Given the description of an element on the screen output the (x, y) to click on. 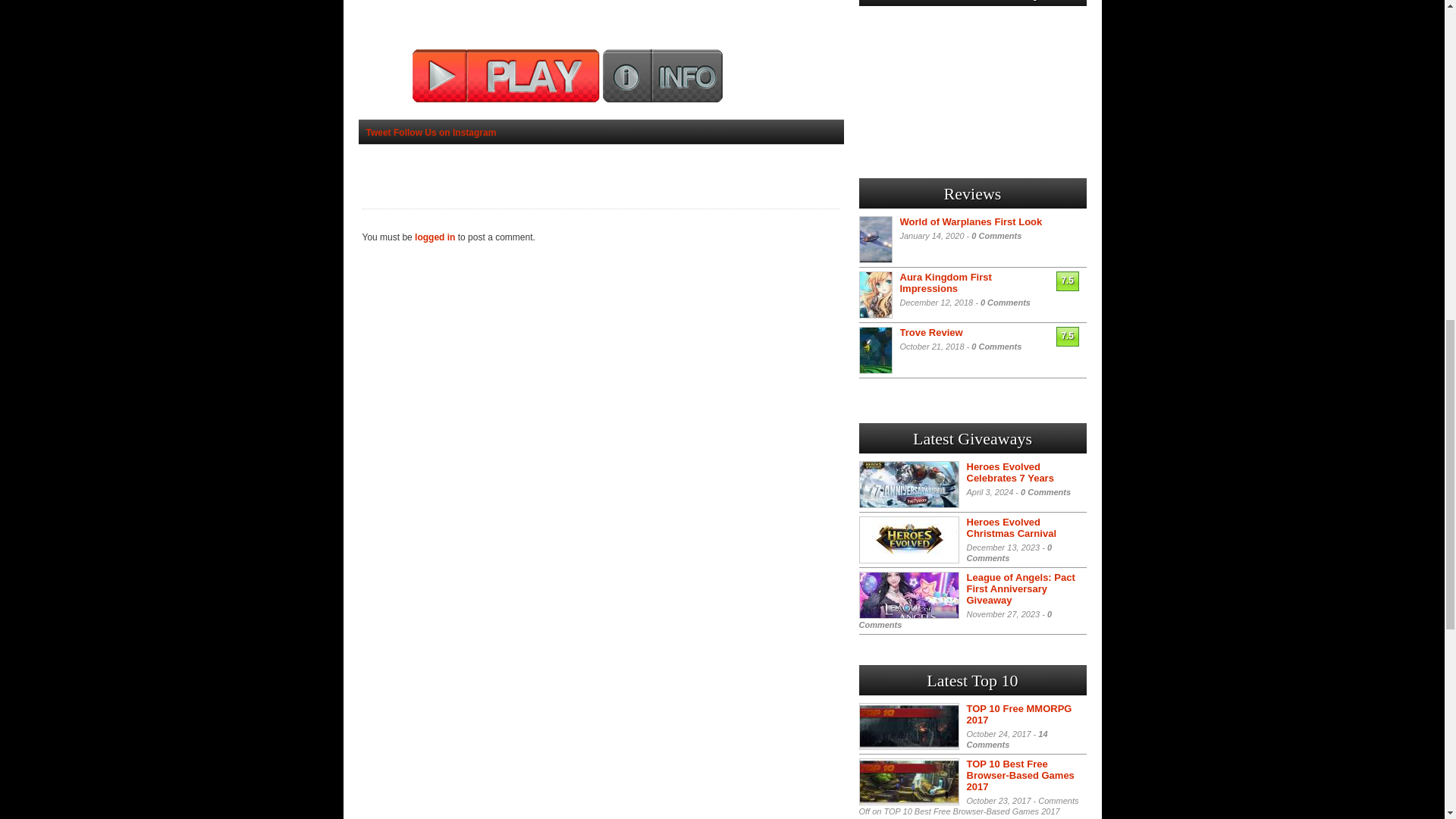
Tweet (377, 132)
logged in (434, 236)
World of Warplanes First Look (970, 221)
Follow Us on Instagram (444, 132)
Aura Kingdom First Impressions (945, 282)
